Given the description of an element on the screen output the (x, y) to click on. 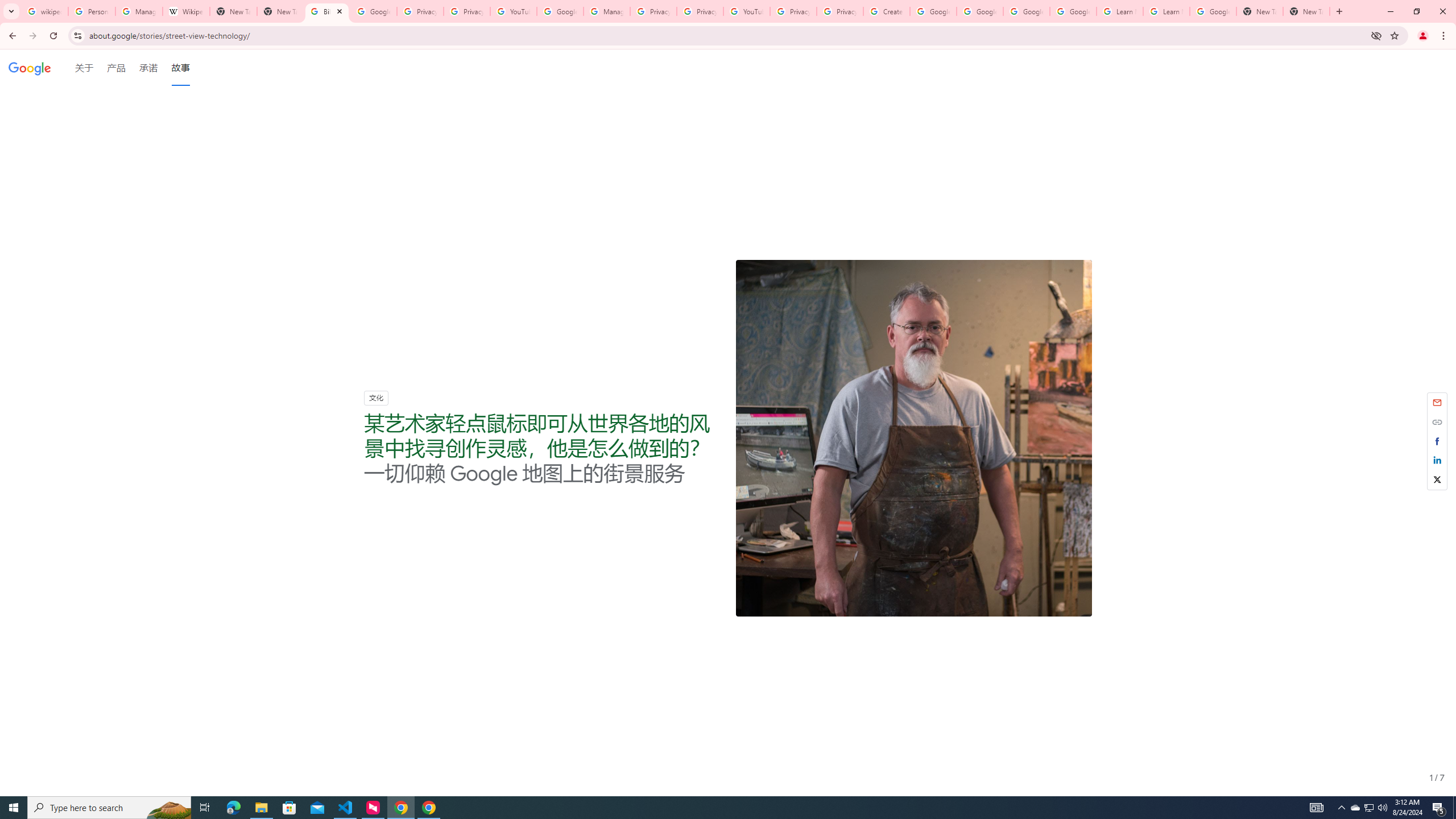
YouTube (745, 11)
Google Account Help (1026, 11)
Google Account Help (980, 11)
Wikipedia:Edit requests - Wikipedia (186, 11)
New Tab (279, 11)
Google Account Help (933, 11)
